Given the description of an element on the screen output the (x, y) to click on. 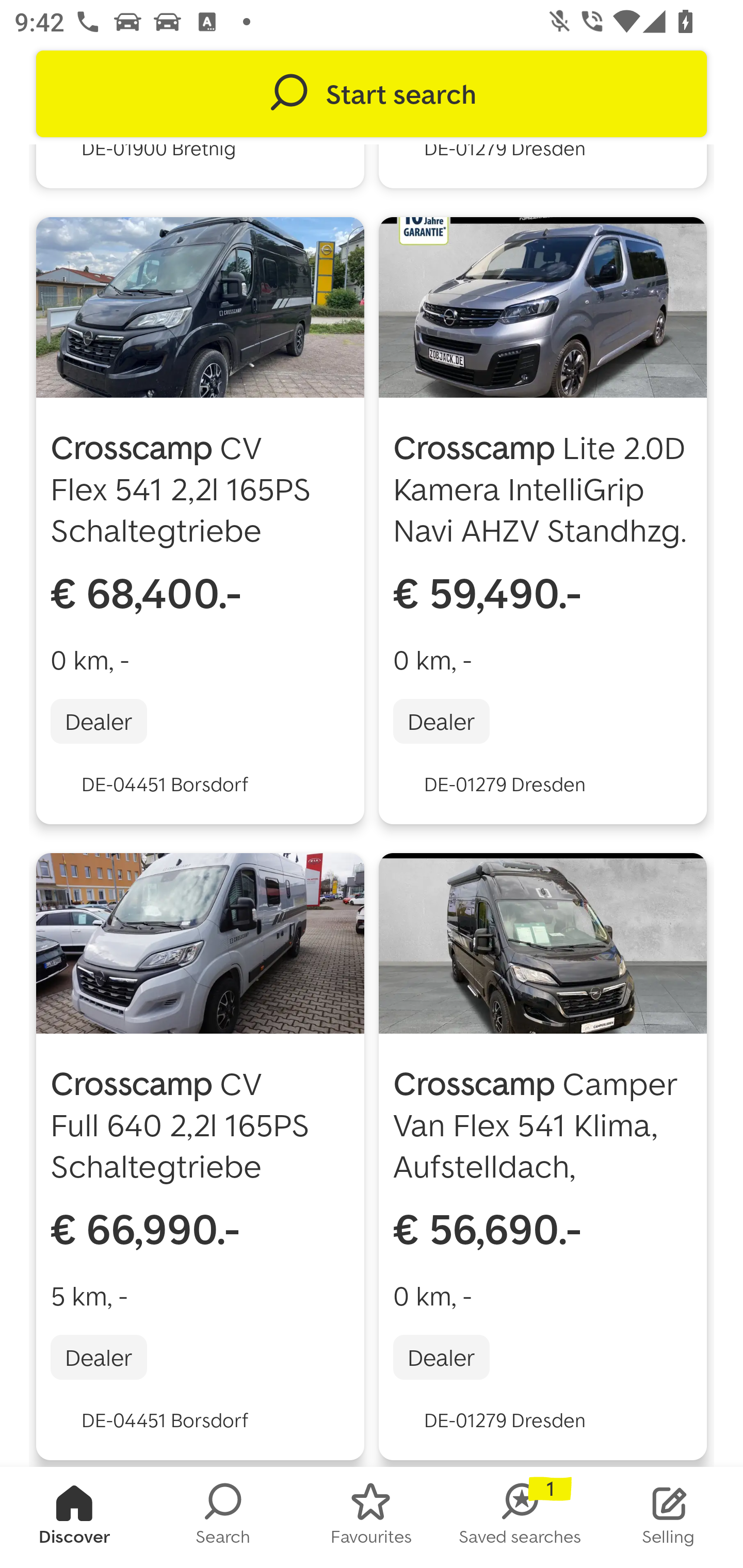
Start search (371, 93)
HOMESCREEN Discover (74, 1517)
SEARCH Search (222, 1517)
FAVORITES Favourites (371, 1517)
SAVED_SEARCHES Saved searches 1 (519, 1517)
STOCK_LIST Selling (668, 1517)
